Given the description of an element on the screen output the (x, y) to click on. 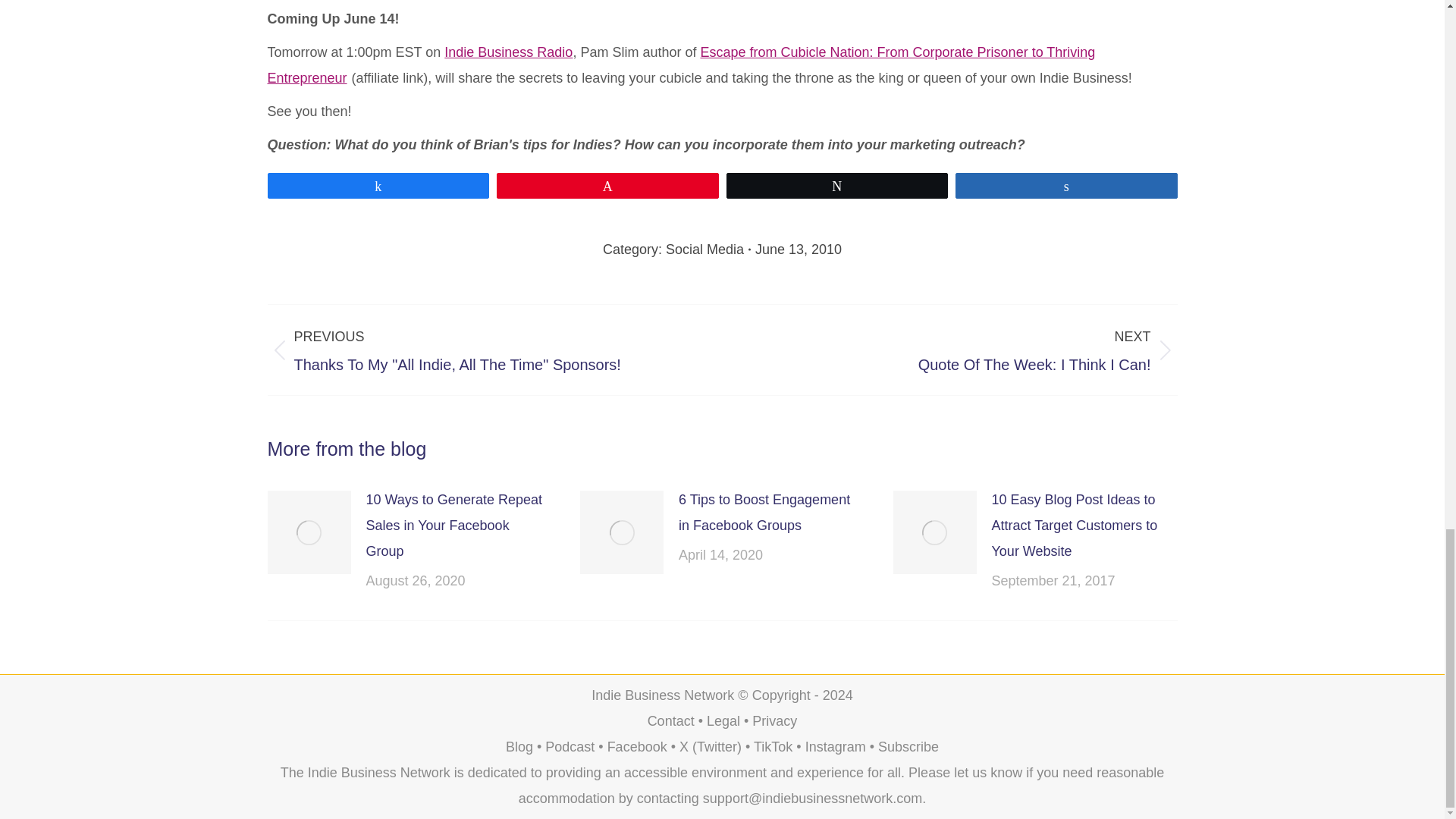
2:36 pm (798, 249)
Indie Business Radio (508, 52)
